Given the description of an element on the screen output the (x, y) to click on. 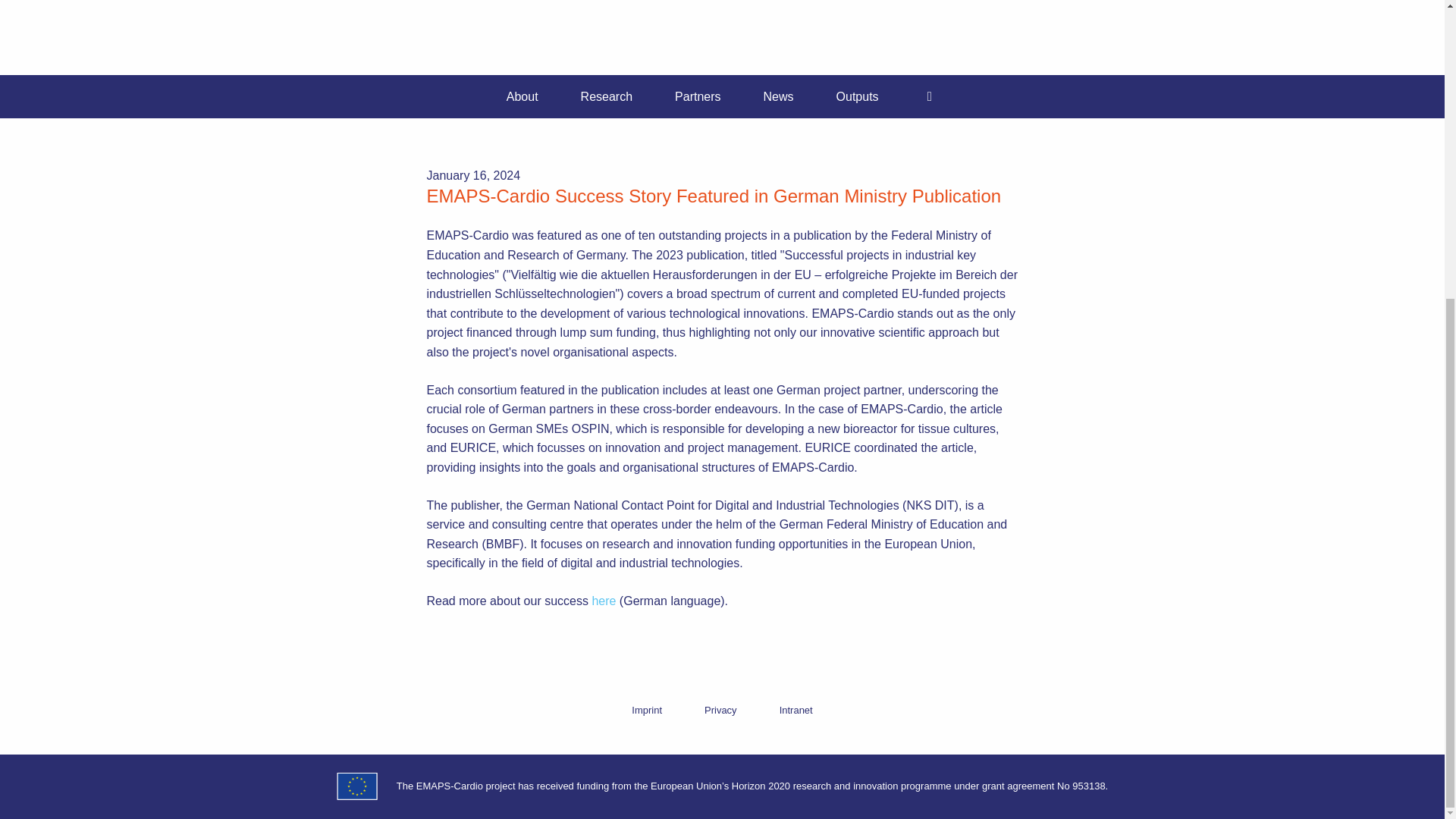
Research (606, 96)
News (778, 96)
here (603, 600)
Privacy (720, 710)
Imprint (646, 710)
Outputs (857, 96)
Partners (697, 96)
About (521, 96)
Intranet (796, 710)
